Given the description of an element on the screen output the (x, y) to click on. 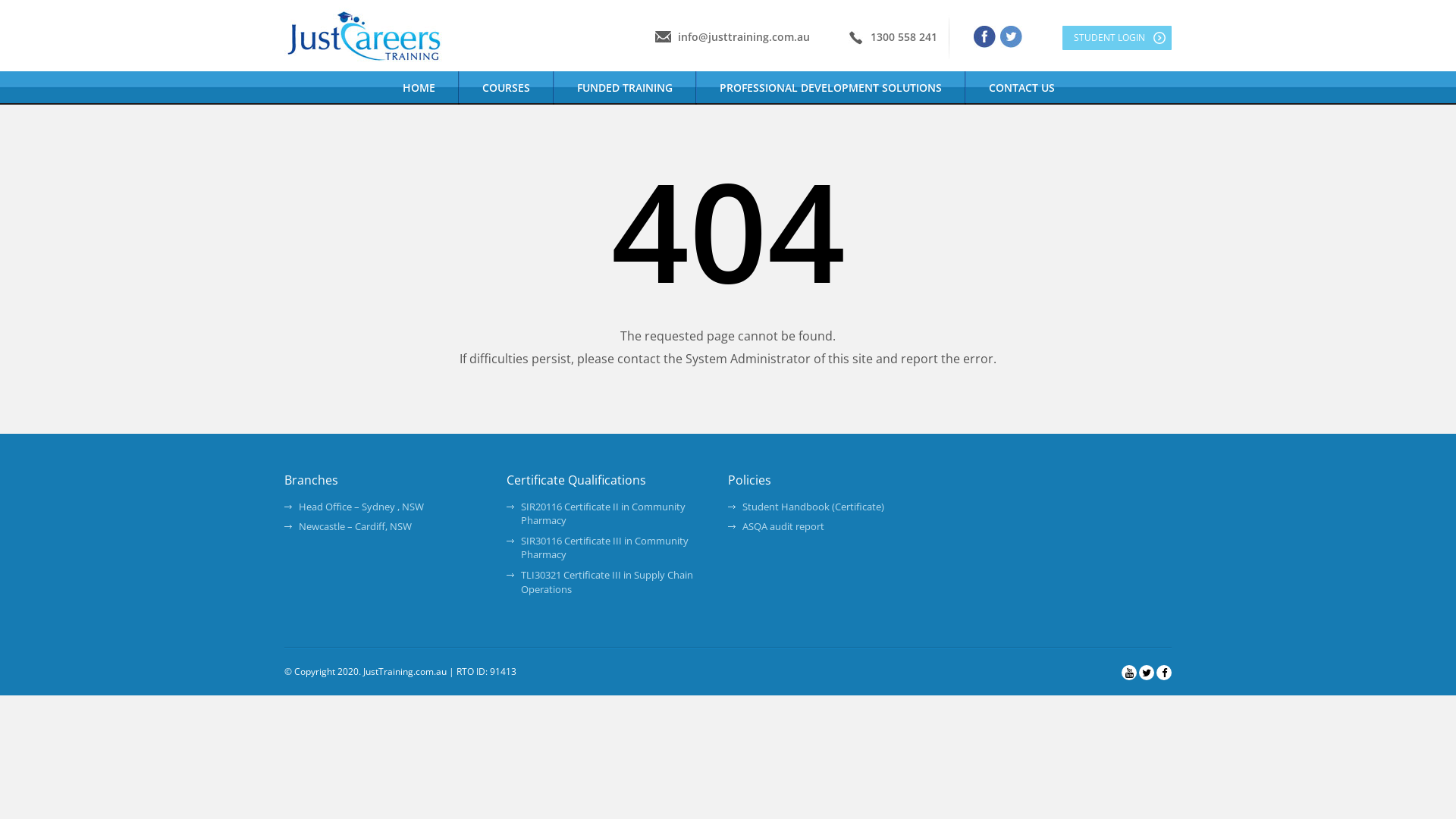
CONTACT US Element type: text (1021, 87)
info@justtraining.com.au Element type: text (743, 36)
STUDENT LOGIN Element type: text (1116, 37)
1300 558 241 Element type: text (903, 36)
TLI30321 Certificate III in Supply Chain Operations Element type: text (606, 581)
SIR20116 Certificate II in Community Pharmacy Element type: text (602, 513)
COURSES Element type: text (505, 87)
ASQA audit report Element type: text (783, 526)
SIR30116 Certificate III in Community Pharmacy Element type: text (603, 547)
Student Handbook (Certificate) Element type: text (813, 506)
FUNDED TRAINING Element type: text (624, 87)
PROFESSIONAL DEVELOPMENT SOLUTIONS Element type: text (830, 87)
HOME Element type: text (418, 87)
